Given the description of an element on the screen output the (x, y) to click on. 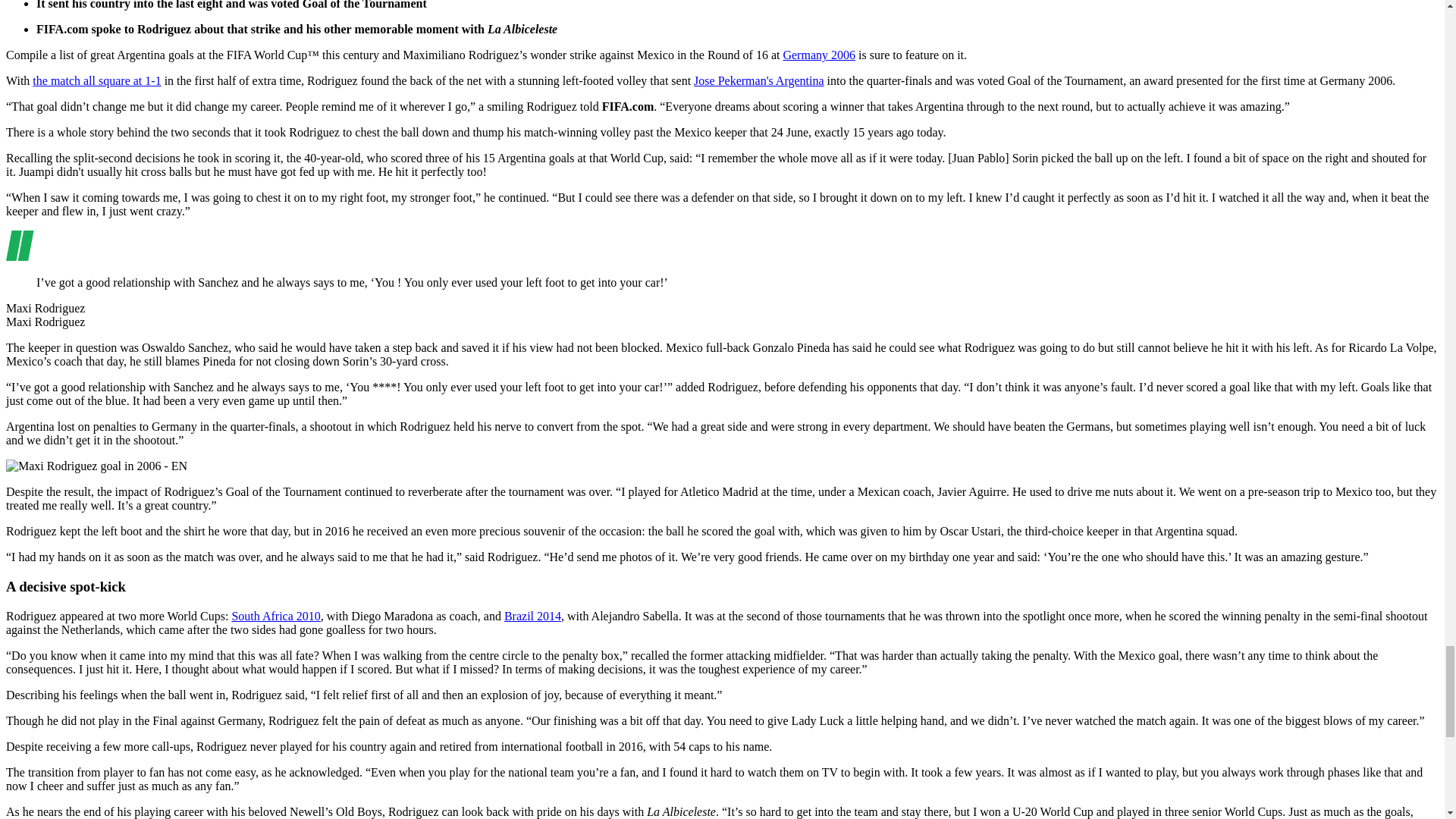
South Africa 2010 (275, 615)
the match all square at 1-1 (96, 80)
Germany 2006 (819, 54)
Jose Pekerman's Argentina (759, 80)
Brazil 2014 (531, 615)
Maxi Rodriguez goal in 2006 - EN (96, 466)
